Given the description of an element on the screen output the (x, y) to click on. 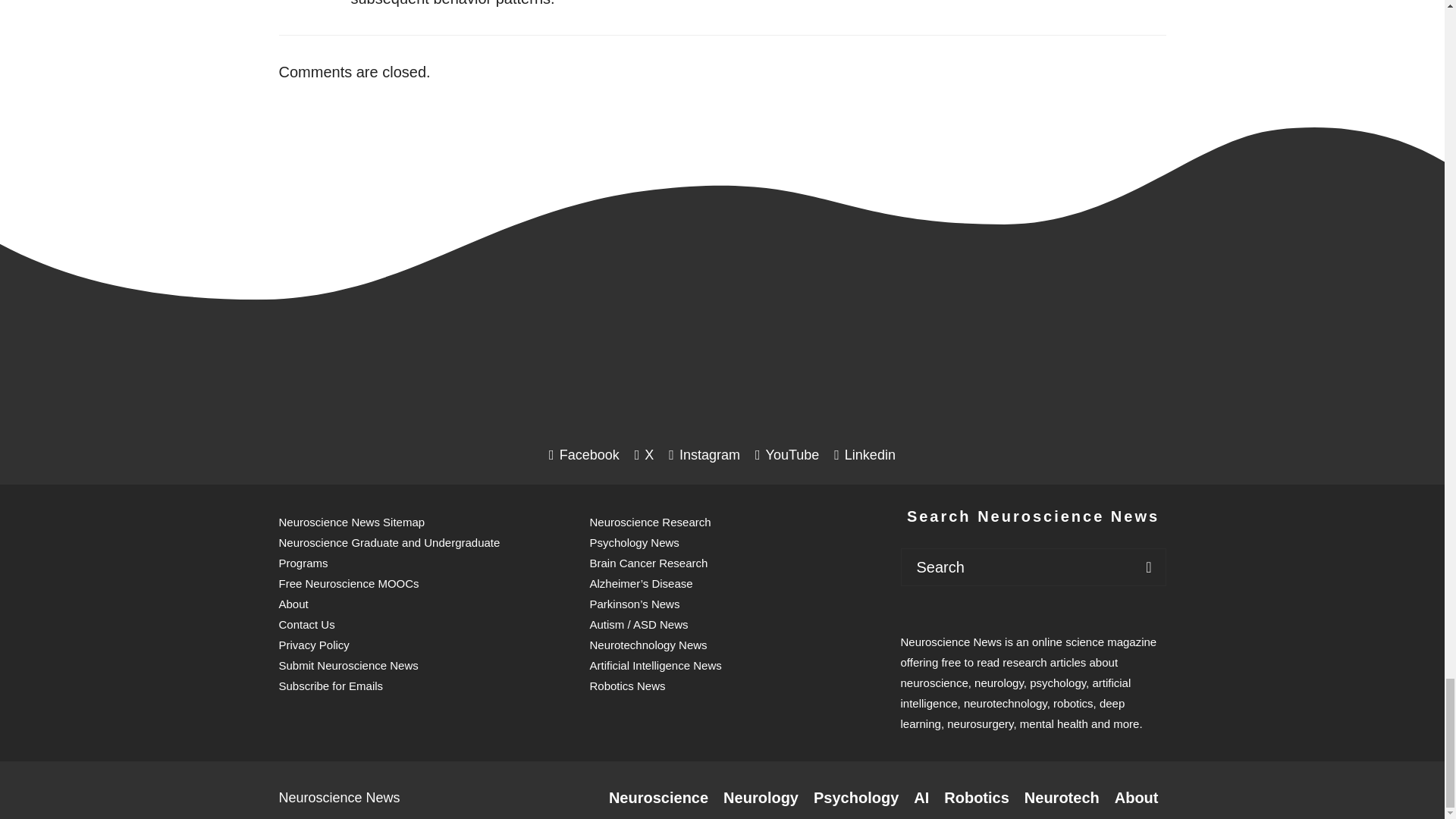
Neuroscience Research (657, 797)
Psychology Research Articles (855, 797)
Neurology Research Articles (760, 797)
